Given the description of an element on the screen output the (x, y) to click on. 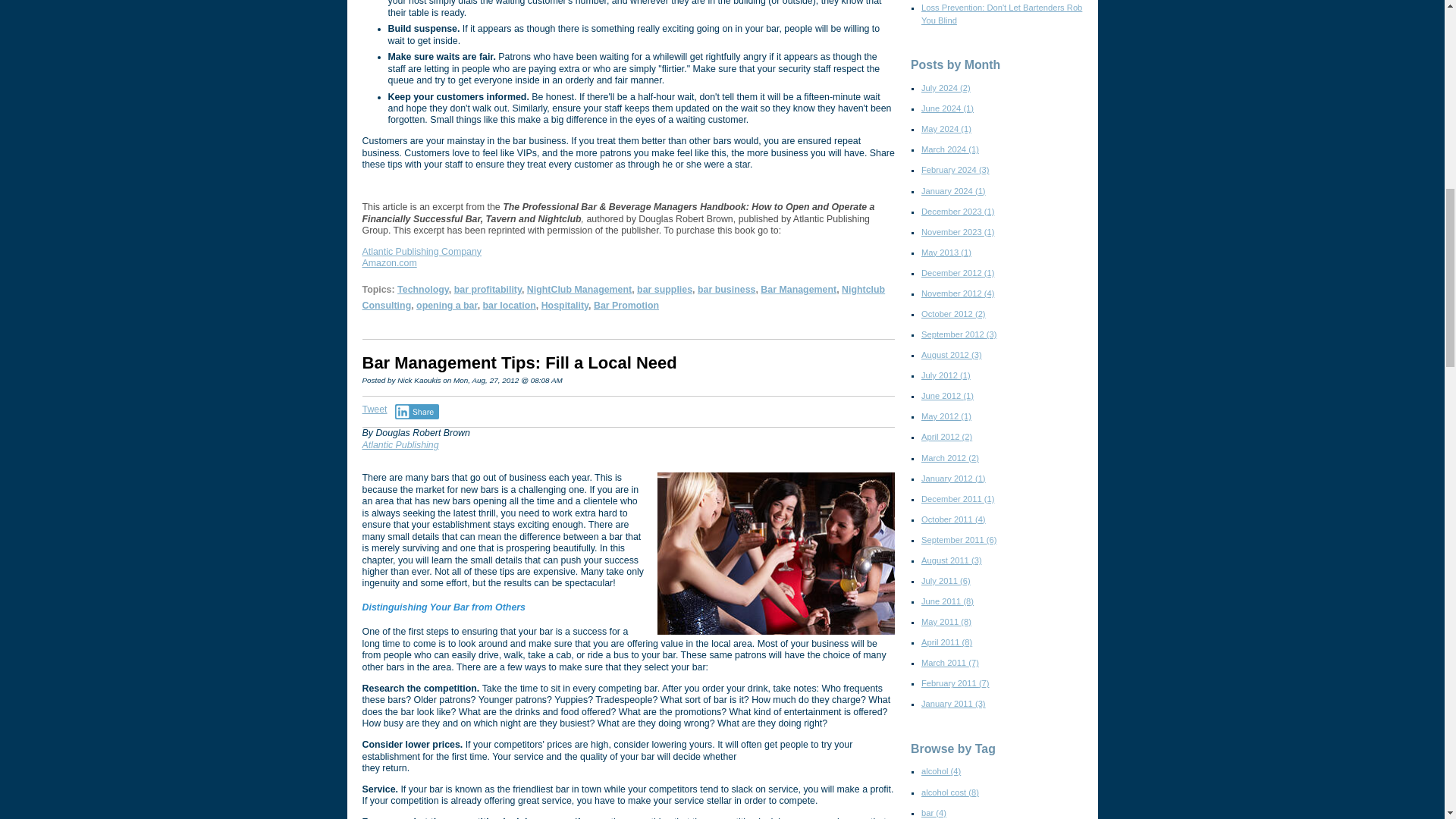
Atlantic Publishing Company (421, 251)
bar profitability (487, 289)
Amazon.com (389, 262)
Atlantic Publishing Company (421, 251)
Atlantic Publishing (400, 444)
Technology (422, 289)
NightClub Management (579, 289)
Amazon.com (389, 262)
